Given the description of an element on the screen output the (x, y) to click on. 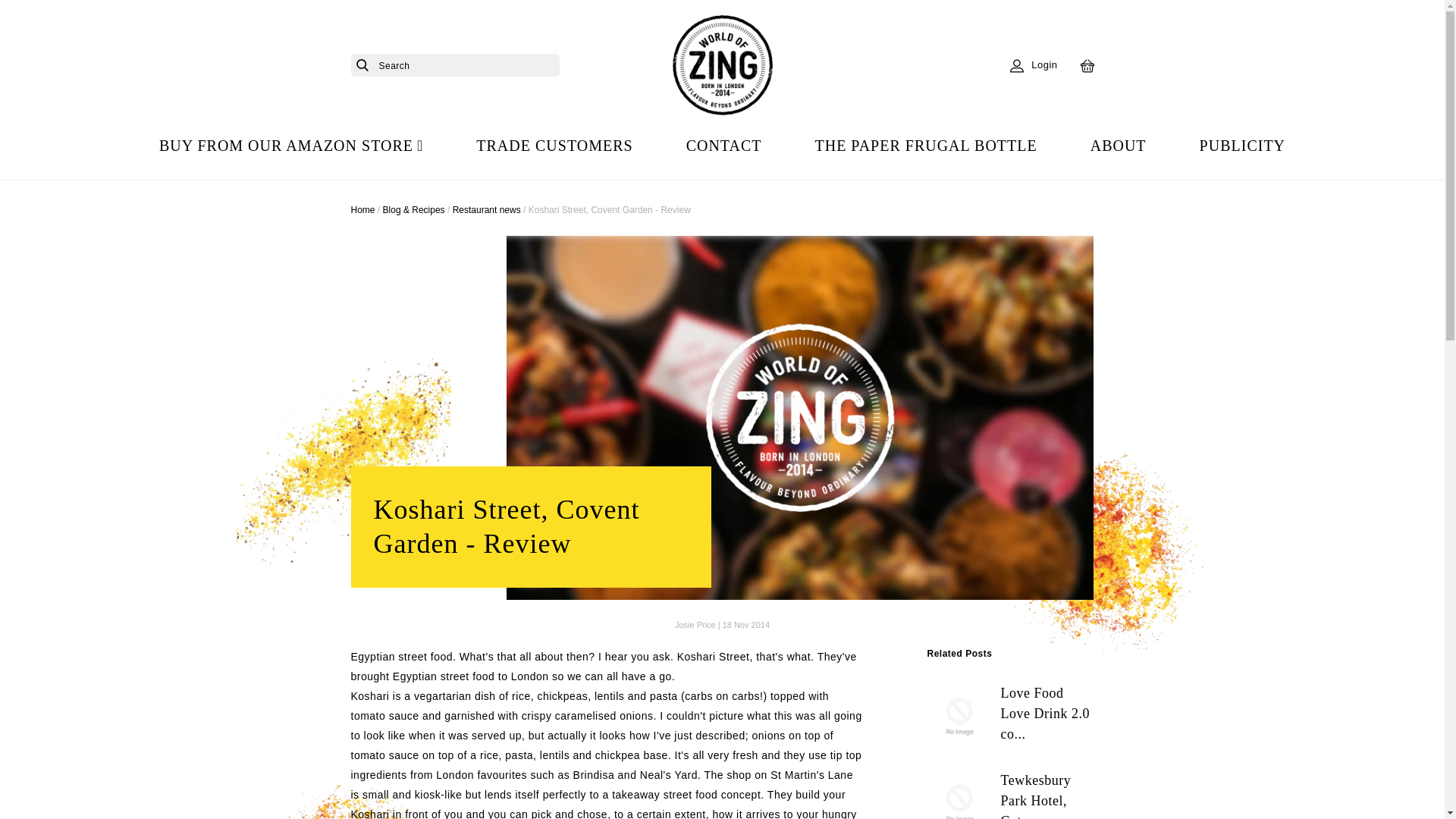
Home (362, 209)
ABOUT (1118, 145)
Submit (361, 65)
THE PAPER FRUGAL BOTTLE (924, 145)
CONTACT (723, 145)
Login (1033, 64)
Restaurant news (486, 209)
TRADE CUSTOMERS (553, 145)
BUY FROM OUR AMAZON STORE (290, 145)
Love Food Love Drink 2.0 co... (1009, 715)
PUBLICITY (1242, 145)
